Given the description of an element on the screen output the (x, y) to click on. 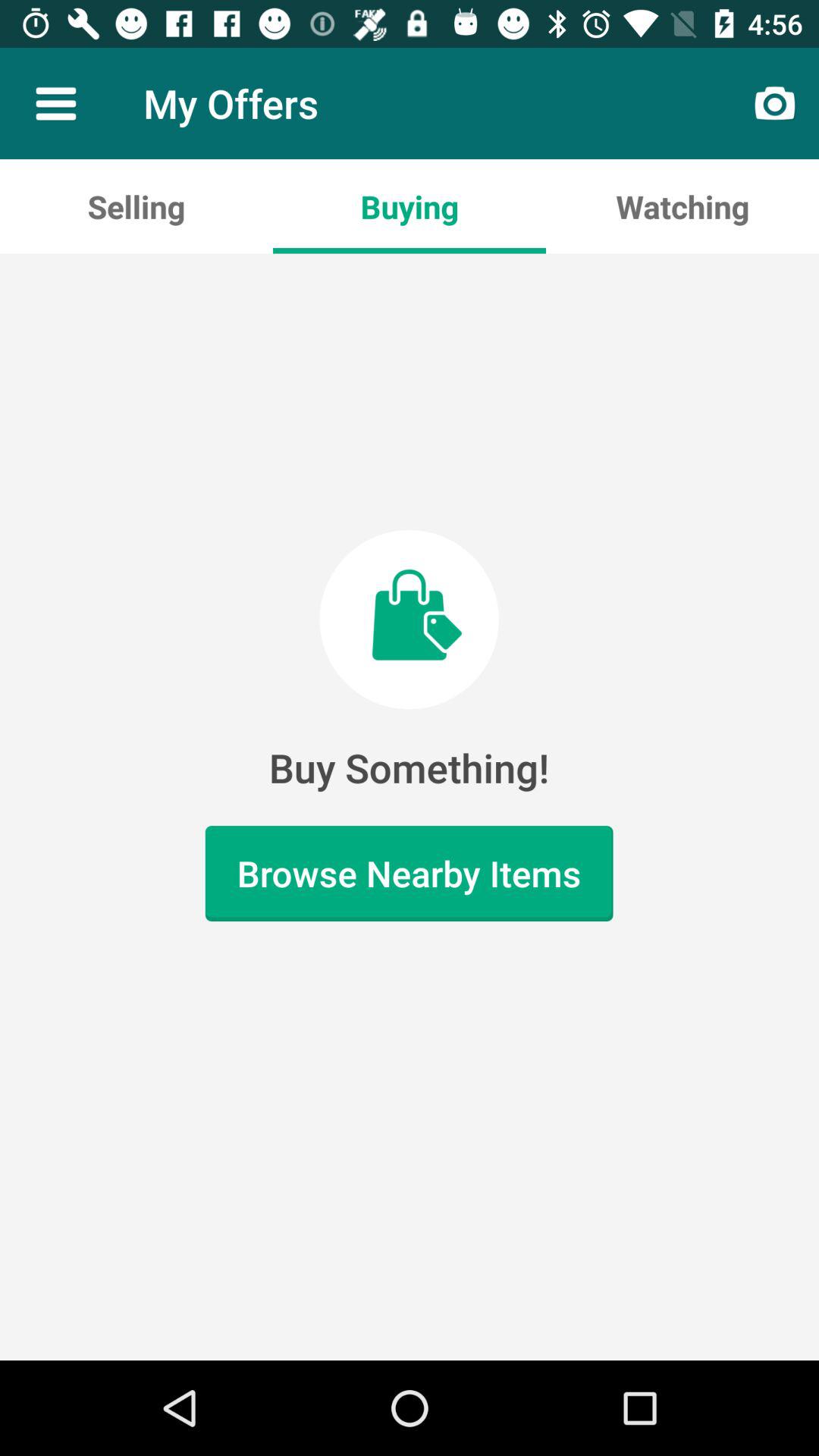
turn off item to the left of buying (136, 206)
